Given the description of an element on the screen output the (x, y) to click on. 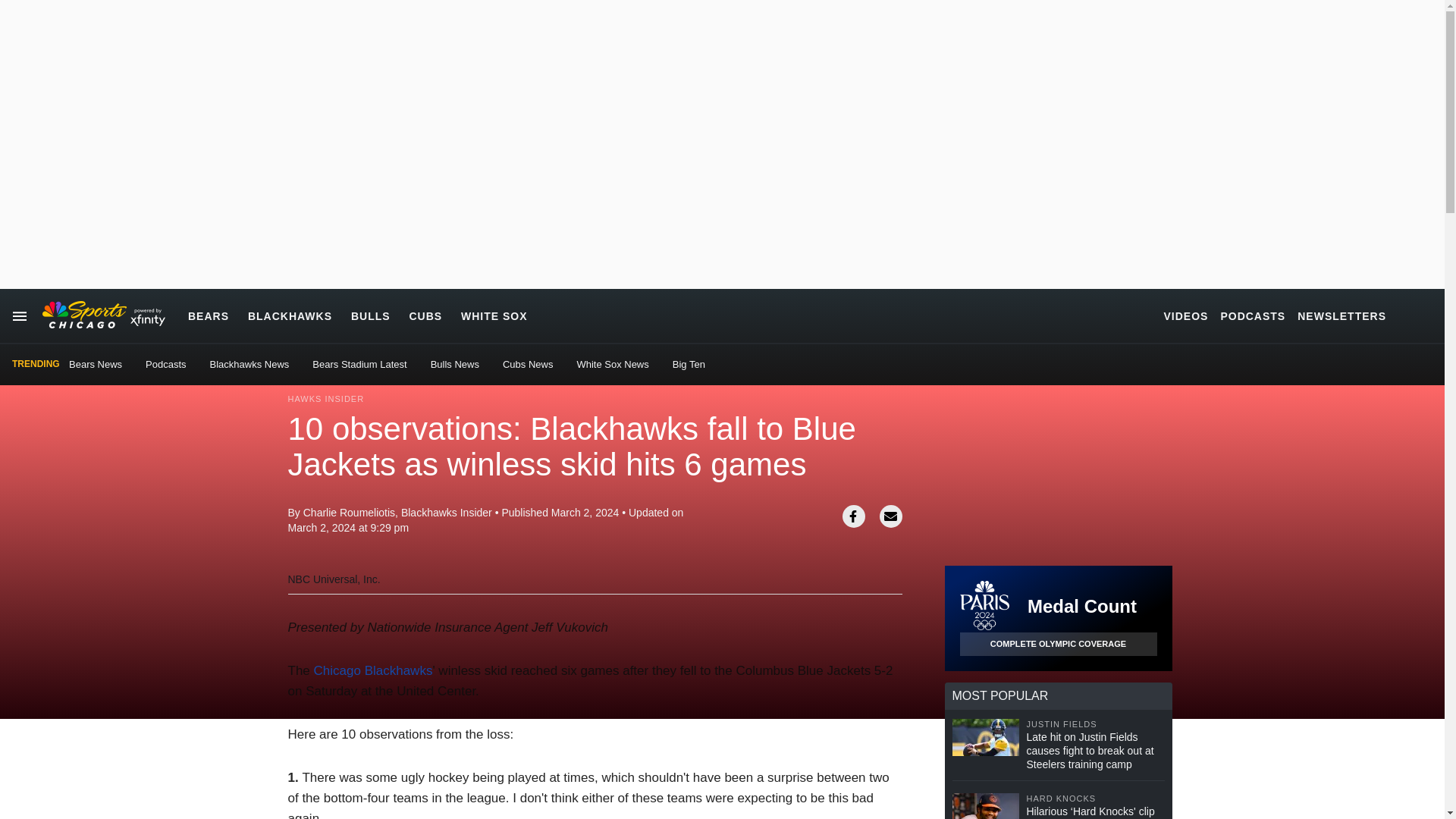
Bears News (95, 364)
Bears Stadium Latest (359, 364)
Cubs News (527, 364)
Podcasts (165, 364)
BULLS (370, 315)
VIDEOS (1185, 315)
Bulls News (454, 364)
PODCASTS (1252, 315)
NEWSLETTERS (1341, 315)
WHITE SOX (494, 315)
BEARS (207, 315)
White Sox News (611, 364)
BLACKHAWKS (289, 315)
Big Ten (688, 364)
Blackhawks News (249, 364)
